Given the description of an element on the screen output the (x, y) to click on. 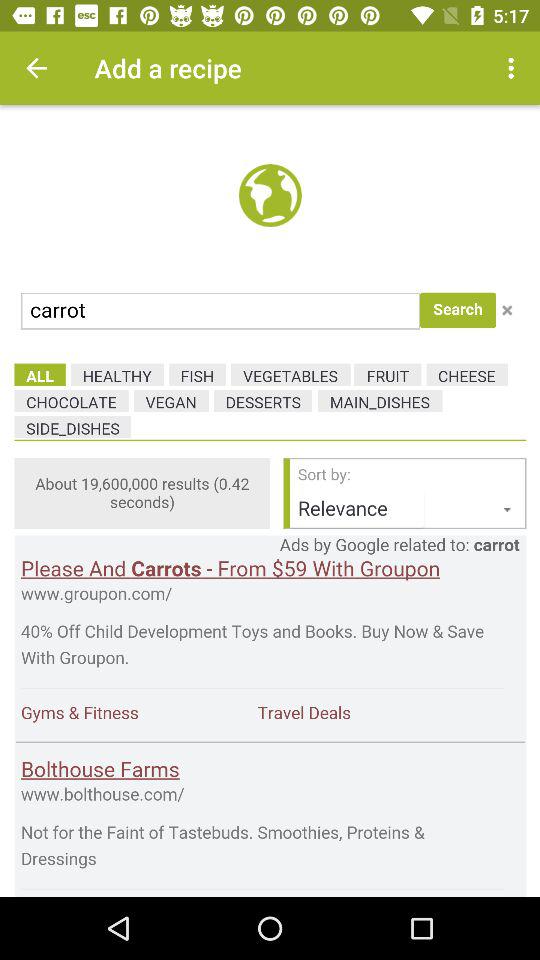
go to advertisements (270, 501)
